Given the description of an element on the screen output the (x, y) to click on. 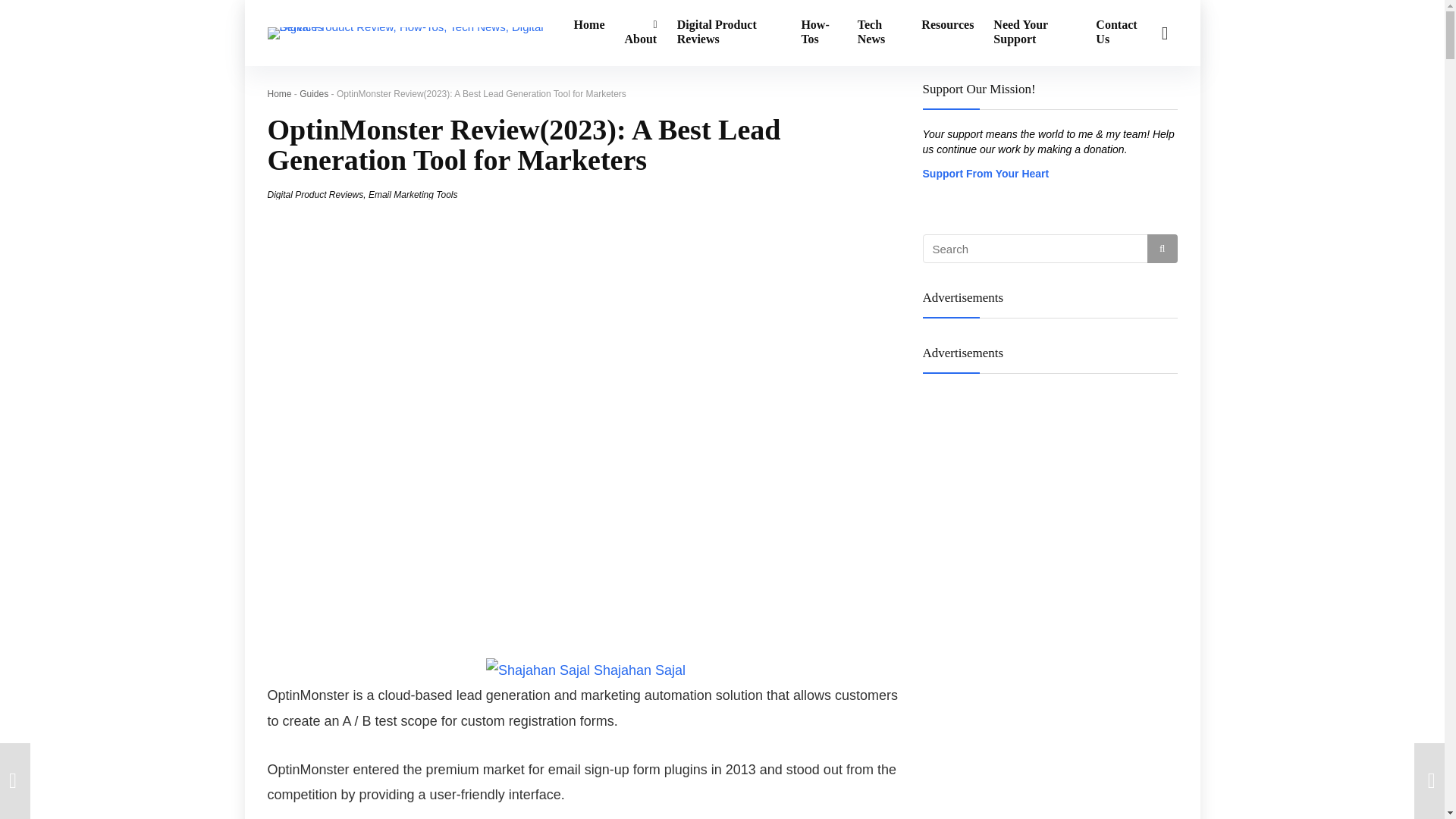
View all posts in Email Marketing Tools (413, 194)
Digital Product Reviews (314, 194)
Advertisements (1048, 367)
About (640, 32)
Resources (947, 25)
Digital Product Reviews (729, 32)
Shajahan Sajal (639, 670)
Contact Us (1118, 32)
Guides (314, 93)
Need Your Support (1035, 32)
View all posts in Digital Product Reviews (314, 194)
How-Tos (818, 32)
Home (278, 93)
Tech News (879, 32)
Email Marketing Tools (413, 194)
